Given the description of an element on the screen output the (x, y) to click on. 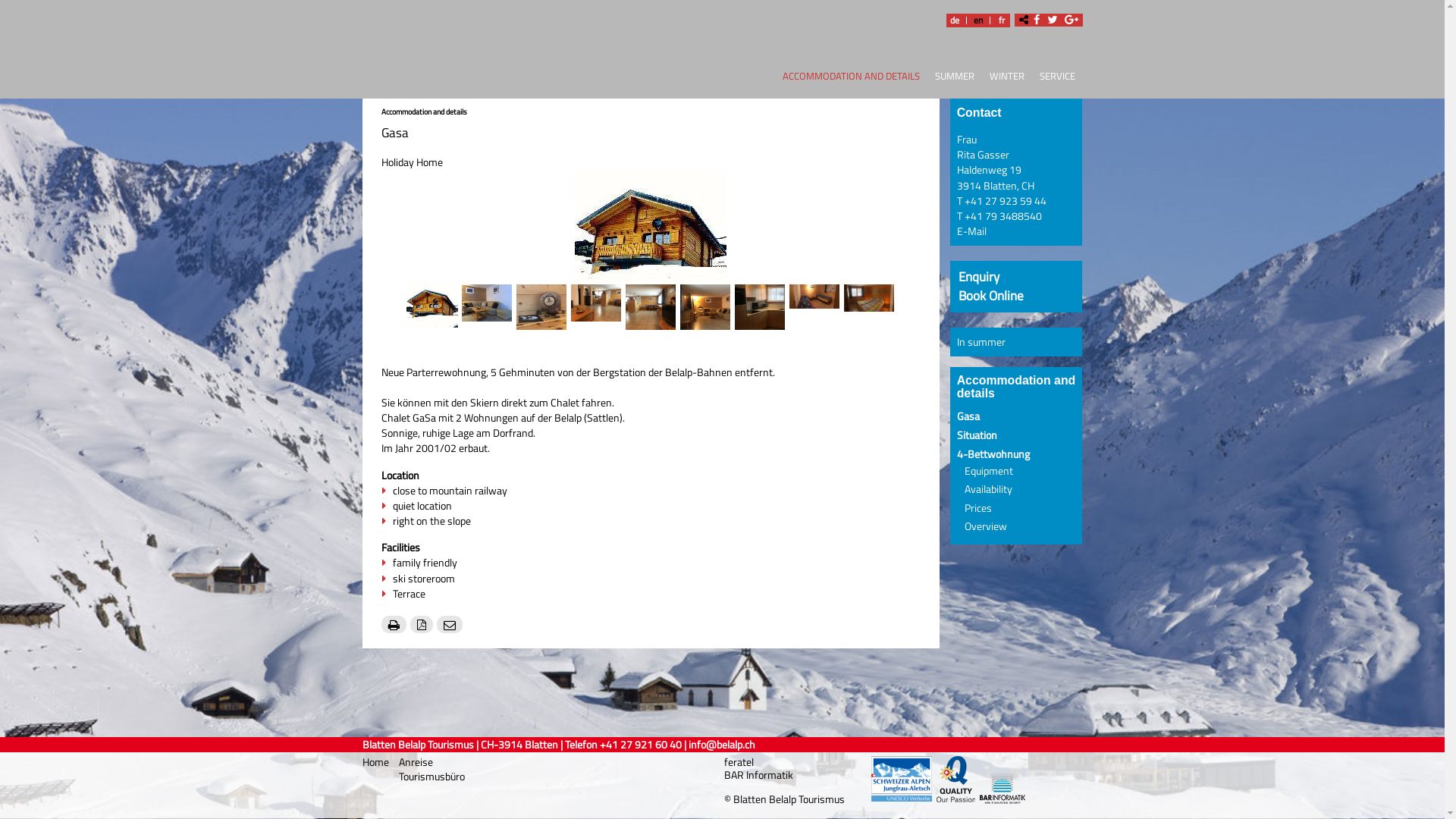
Home Element type: text (376, 761)
E-Mail Element type: text (971, 230)
Overview Element type: text (985, 525)
fr Element type: text (1001, 19)
Availability Element type: text (988, 488)
info@belalp.ch Element type: text (721, 744)
Anreise Element type: text (415, 761)
Situation Element type: text (977, 434)
4-Bettwohnung Element type: text (993, 453)
Enquiry Element type: text (978, 276)
WINTER Element type: text (1006, 78)
SUMMER Element type: text (953, 78)
Accommodation and details Element type: text (423, 111)
feratel Element type: text (738, 761)
ACCOMMODATION AND DETAILS Element type: text (844, 78)
Book Online Element type: text (990, 295)
SERVICE Element type: text (1056, 78)
Prices Element type: text (977, 506)
Equipment Element type: text (988, 470)
Gasa Element type: text (968, 415)
de Element type: text (954, 19)
In summer Element type: text (981, 341)
en Element type: text (977, 19)
BAR Informatik Element type: text (758, 774)
